Given the description of an element on the screen output the (x, y) to click on. 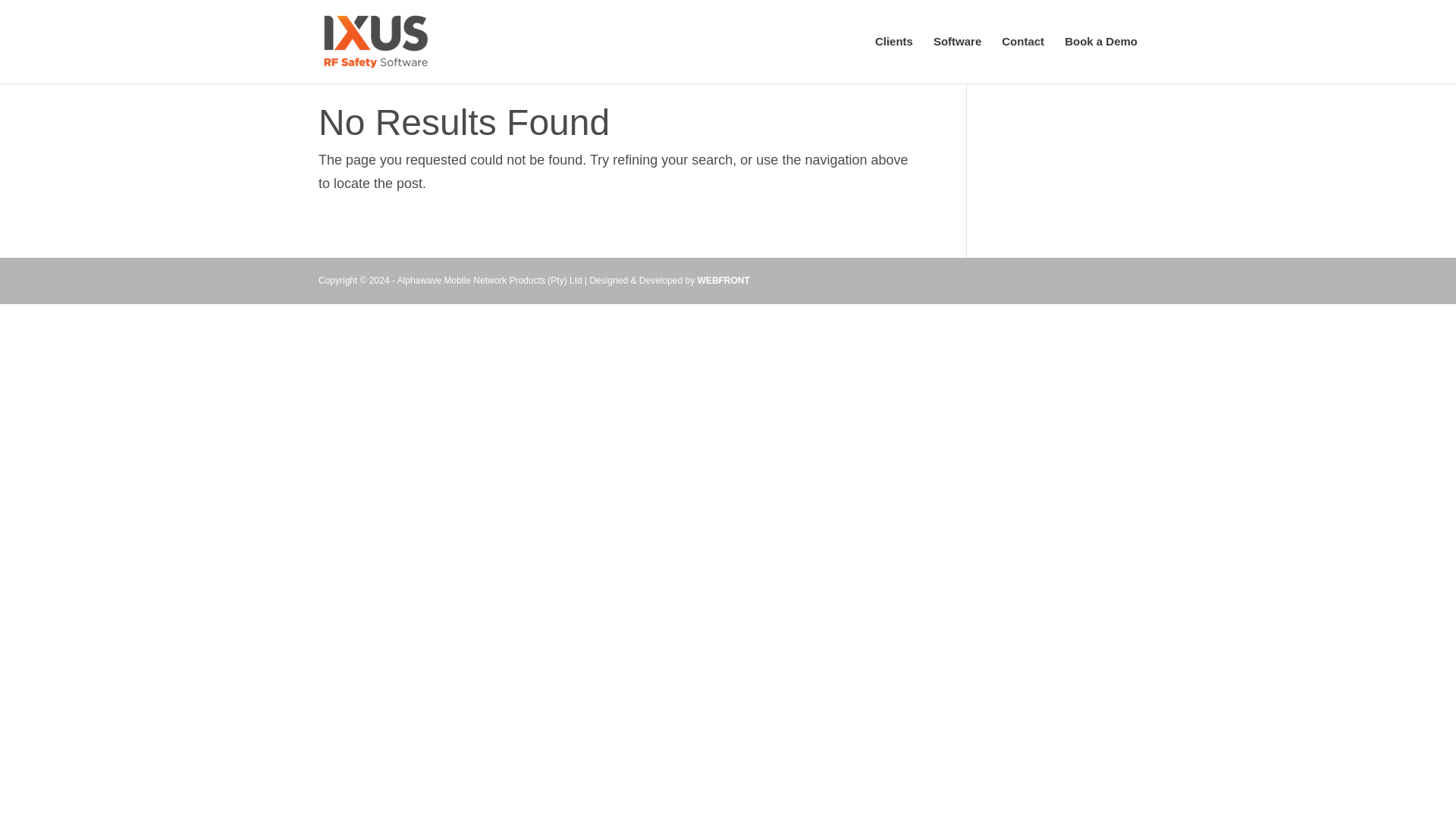
WEBFRONT (723, 280)
Contact (1022, 59)
Book a Demo (1100, 59)
Software (957, 59)
